Given the description of an element on the screen output the (x, y) to click on. 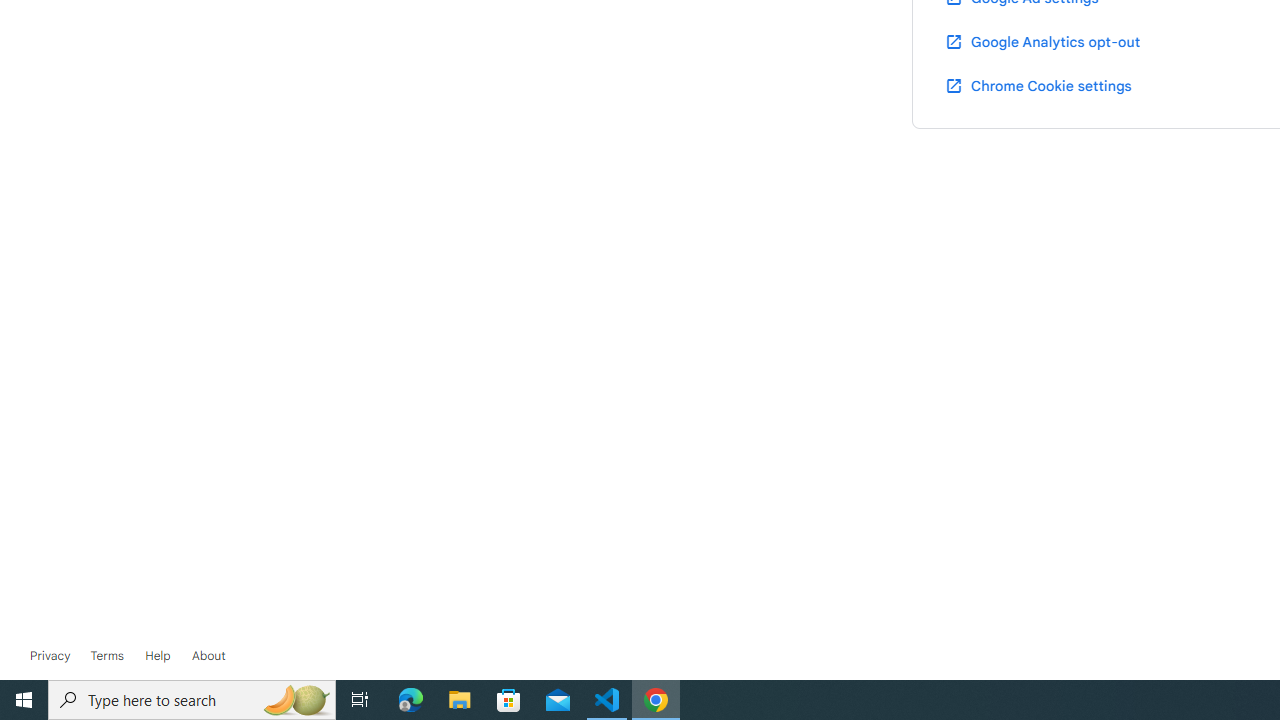
Search highlights icon opens search home window (295, 699)
Google Analytics opt-out (1041, 41)
Type here to search (191, 699)
Microsoft Store (509, 699)
Chrome Cookie settings (1037, 85)
Task View (359, 699)
File Explorer (460, 699)
Microsoft Edge (411, 699)
Google Chrome - 1 running window (656, 699)
Start (24, 699)
Visual Studio Code - 1 running window (607, 699)
Learn more about Google Account (208, 655)
